Given the description of an element on the screen output the (x, y) to click on. 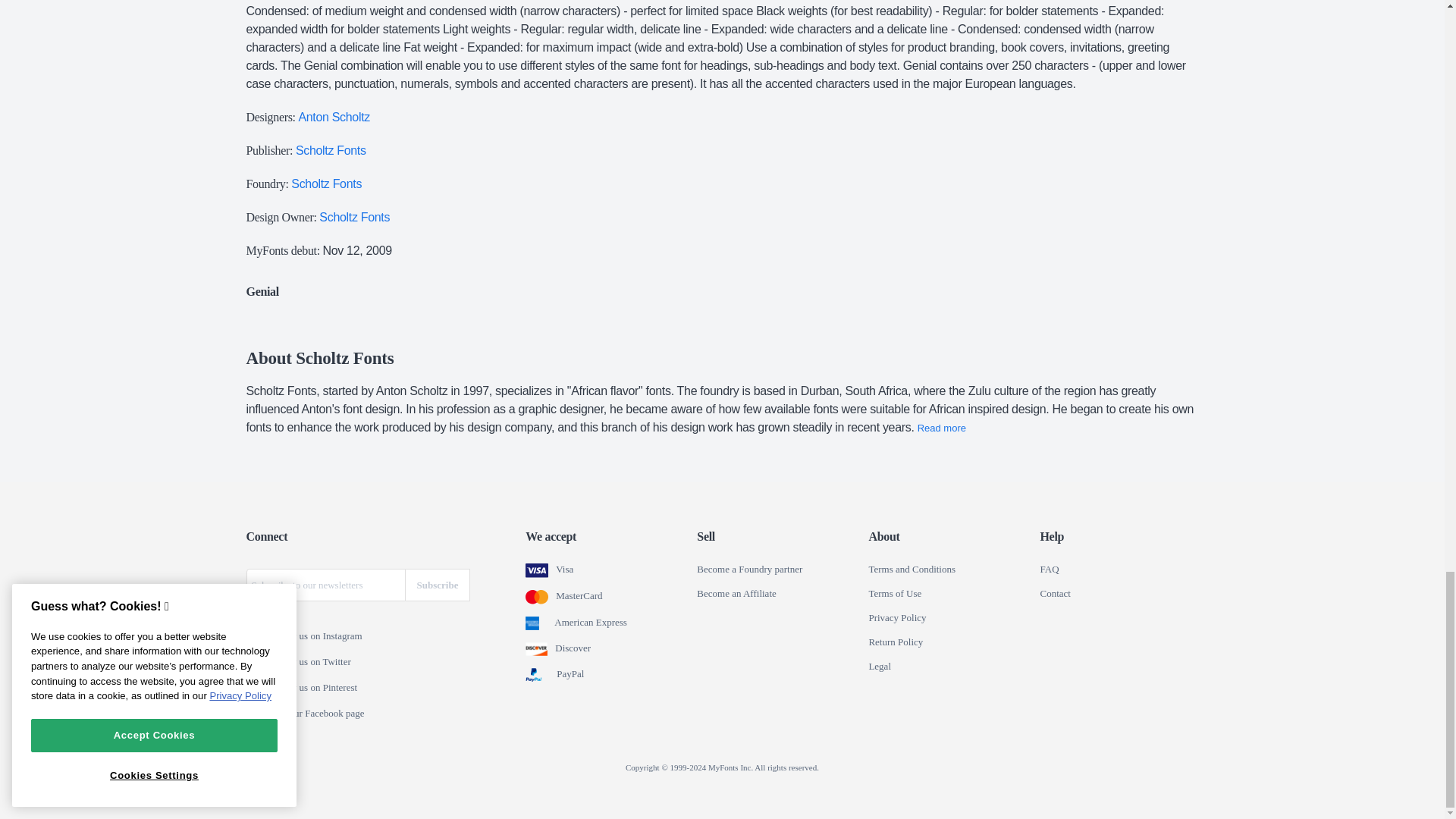
Like our Facebook page (256, 714)
Please fill out this field (325, 584)
Follow us on Twitter (256, 662)
Follow us on Pinterest (256, 688)
Follow us on Instagram (256, 636)
Become a Foundry partner (749, 569)
